Given the description of an element on the screen output the (x, y) to click on. 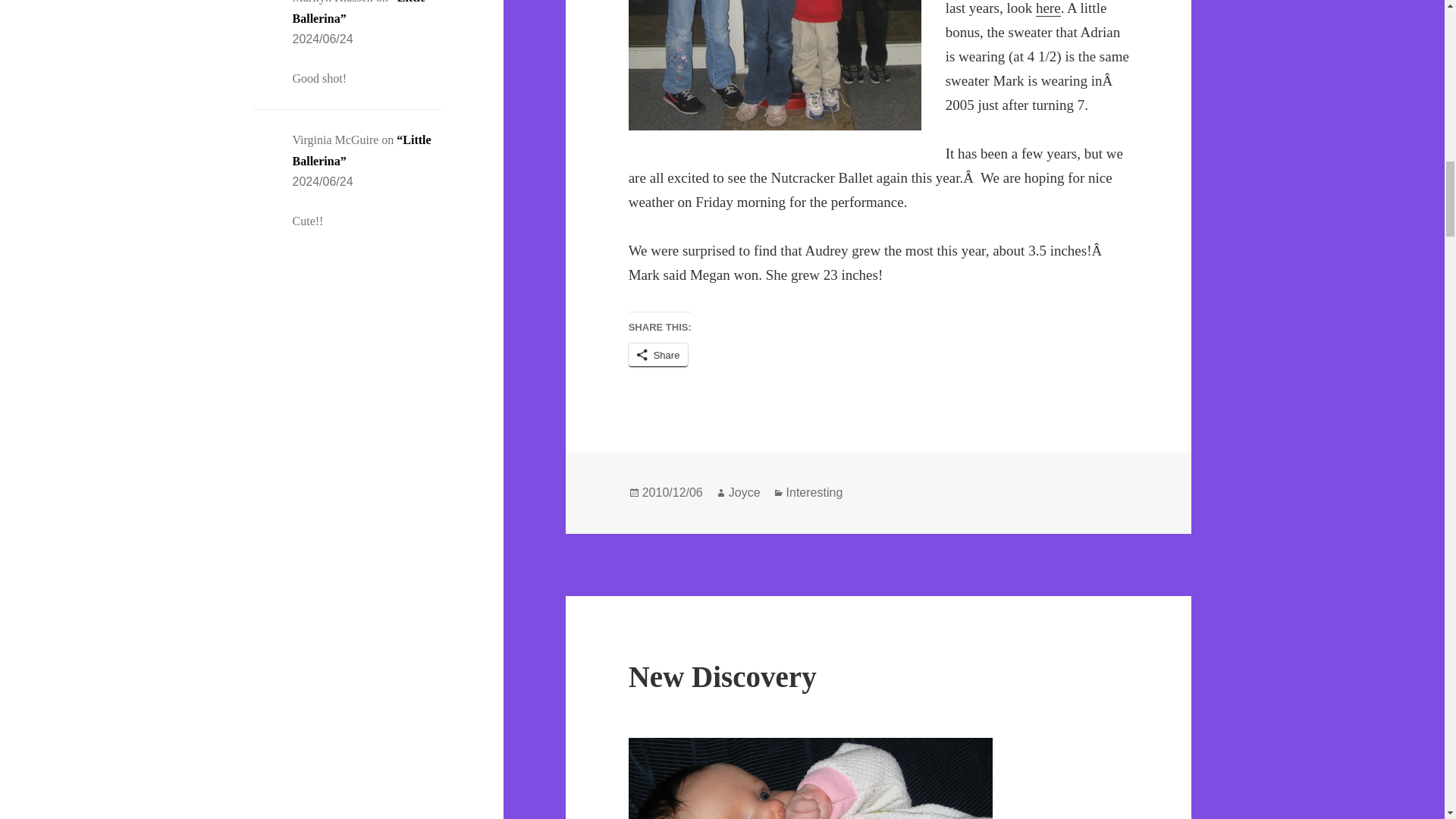
here (1048, 8)
Christmas 2010 (774, 65)
Discovered (810, 778)
Share (658, 354)
